Given the description of an element on the screen output the (x, y) to click on. 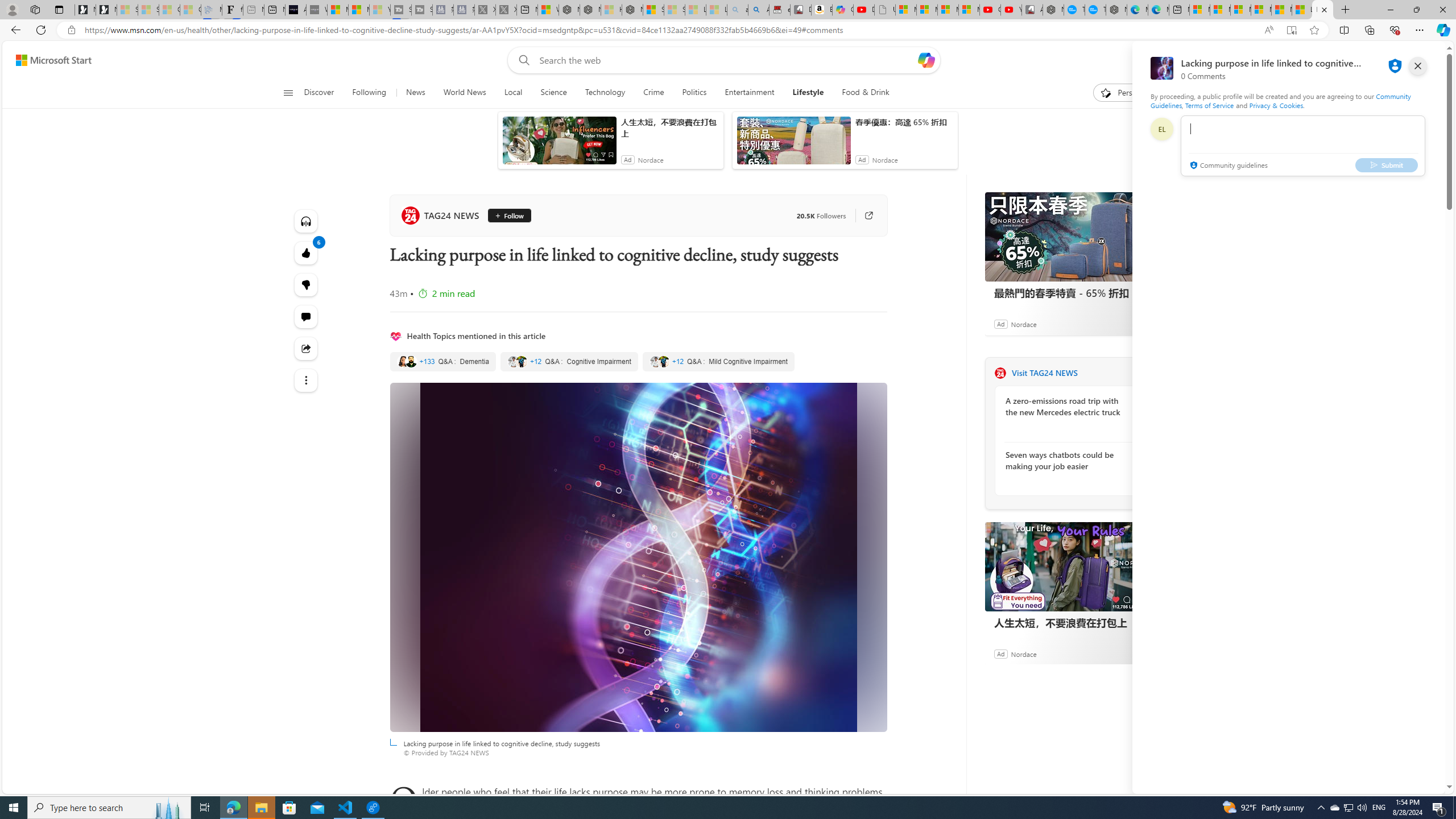
Go to publisher's site (863, 215)
Day 1: Arriving in Yemen (surreal to be here) - YouTube (863, 9)
Nordace - Nordace has arrived Hong Kong (1115, 9)
Copilot (842, 9)
Entertainment (749, 92)
Food & Drink (865, 92)
Skip to content (49, 59)
Enter your search term (726, 59)
Seven ways chatbots could be making your job easier (1066, 459)
What's the best AI voice generator? - voice.ai - Sleeping (316, 9)
Class: button-glyph (287, 92)
